Given the description of an element on the screen output the (x, y) to click on. 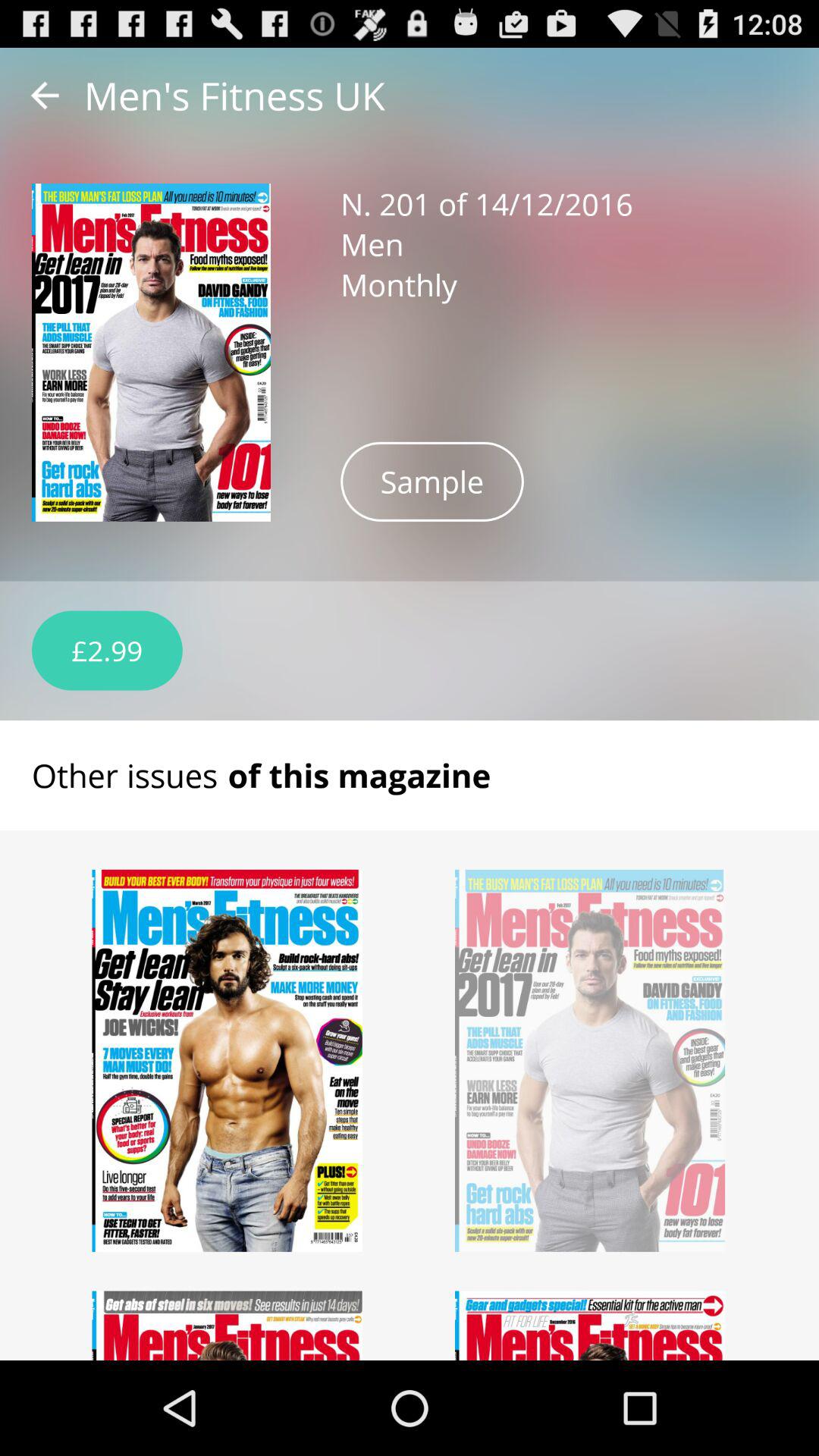
choose item to the left of the men s fitness icon (44, 95)
